Given the description of an element on the screen output the (x, y) to click on. 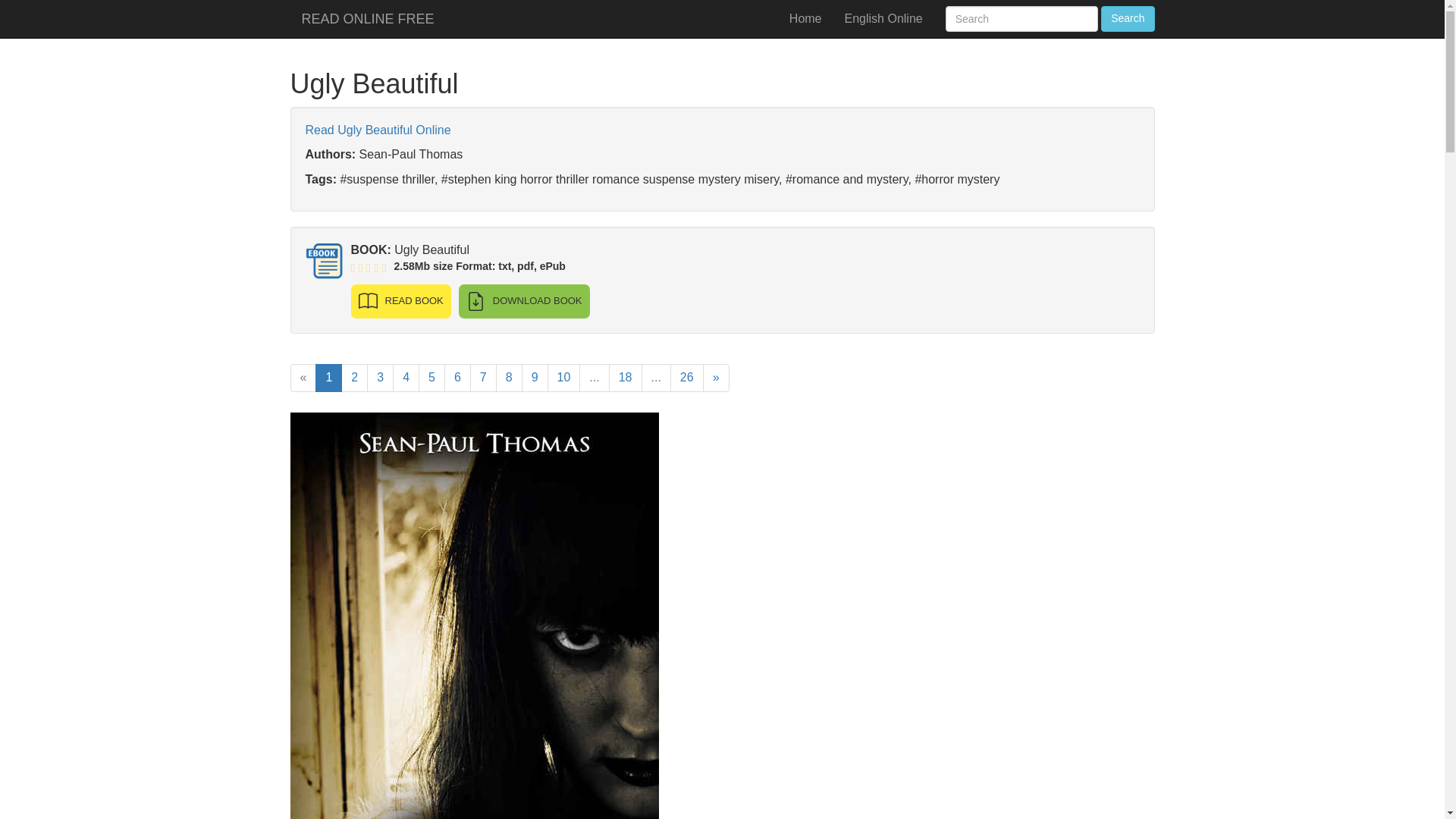
18 (625, 377)
READ ONLINE FREE (367, 18)
4 (406, 377)
26 (686, 377)
Read Ugly Beautiful Online (376, 129)
1 (328, 377)
2 (354, 377)
10 (563, 377)
DOWNLOAD BOOK (523, 301)
Home (804, 18)
